Given the description of an element on the screen output the (x, y) to click on. 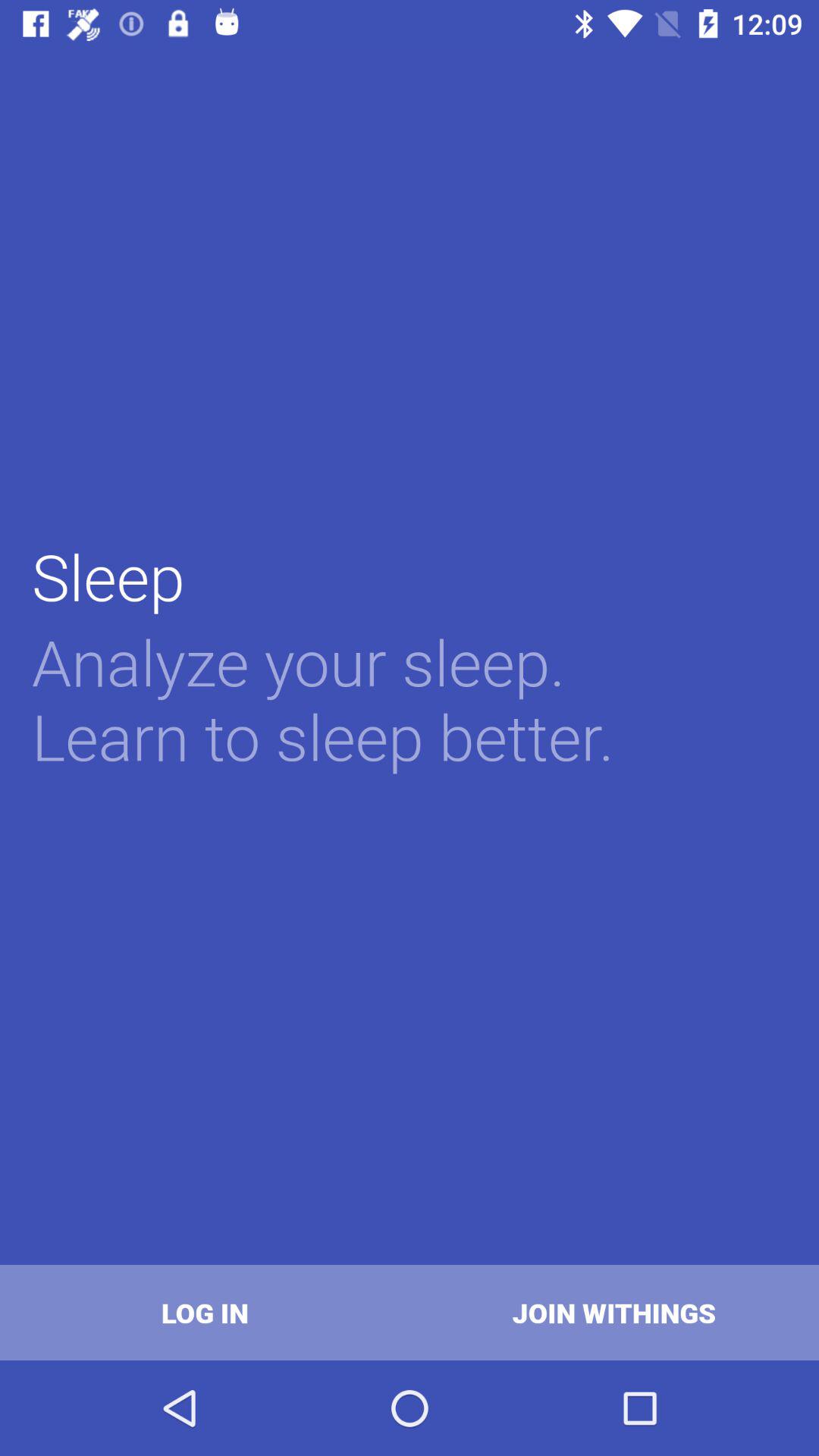
open icon next to log in (614, 1312)
